Given the description of an element on the screen output the (x, y) to click on. 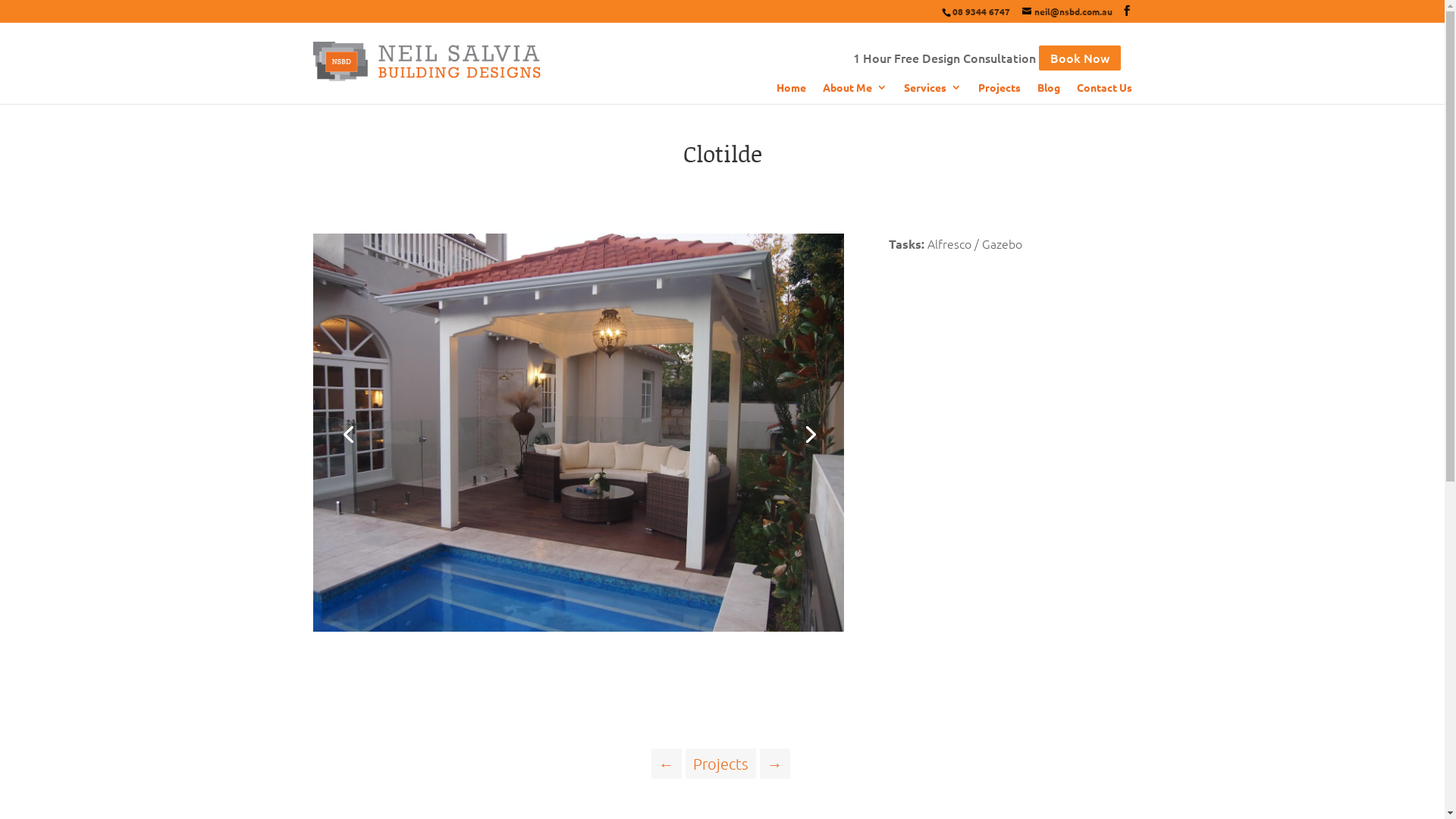
Projects Element type: text (720, 763)
132ca1a61bc31cd549e4f35b876f83f8 Element type: hover (577, 631)
About Me Element type: text (854, 92)
Home Element type: text (791, 92)
Contact Us Element type: text (1104, 92)
neil@nsbd.com.au Element type: text (1067, 11)
Book Now Element type: text (1079, 57)
Projects Element type: text (999, 92)
Blog Element type: text (1048, 92)
Services Element type: text (932, 92)
